Given the description of an element on the screen output the (x, y) to click on. 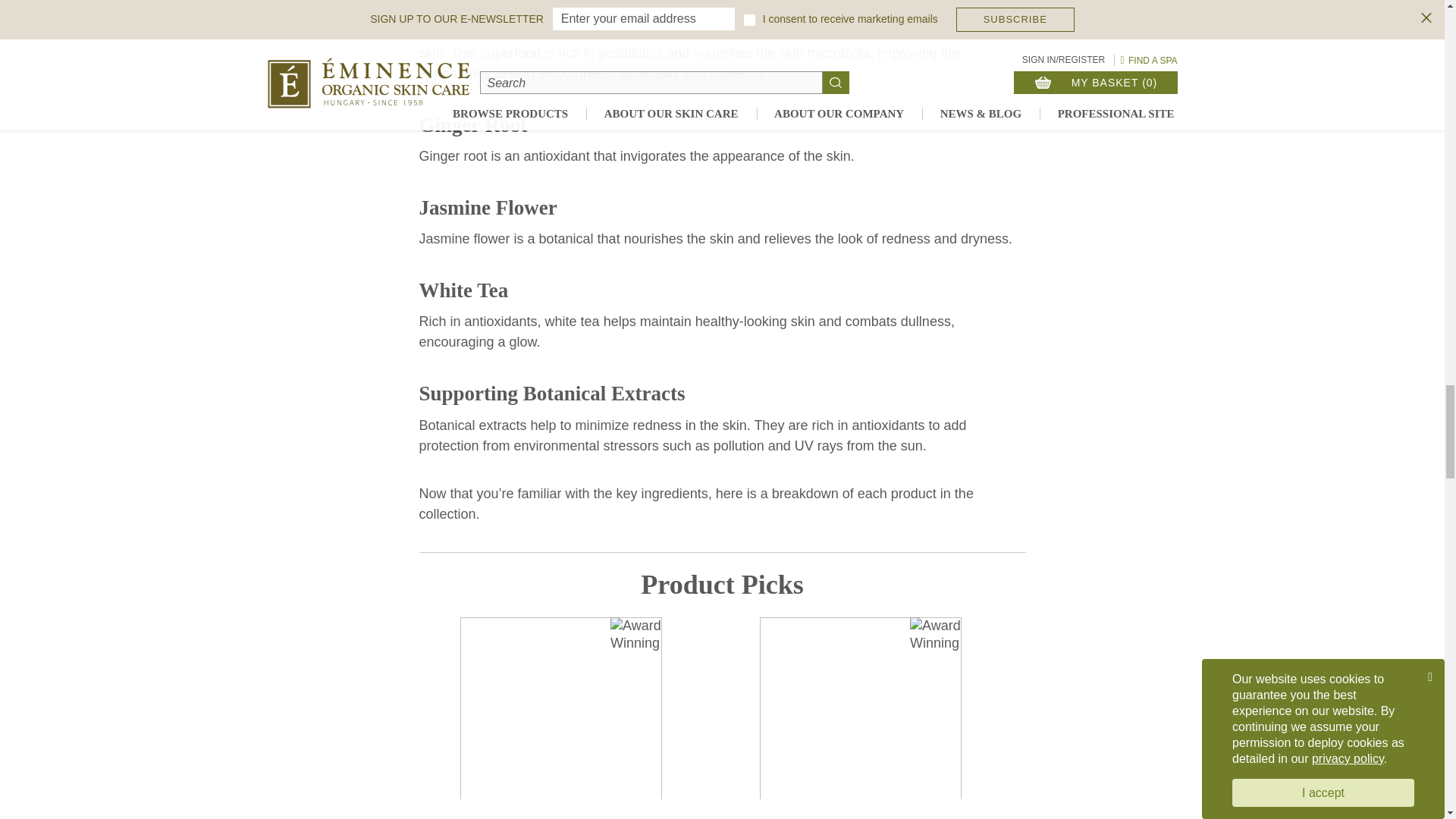
Award Winning (636, 634)
Award Winning (935, 634)
